Given the description of an element on the screen output the (x, y) to click on. 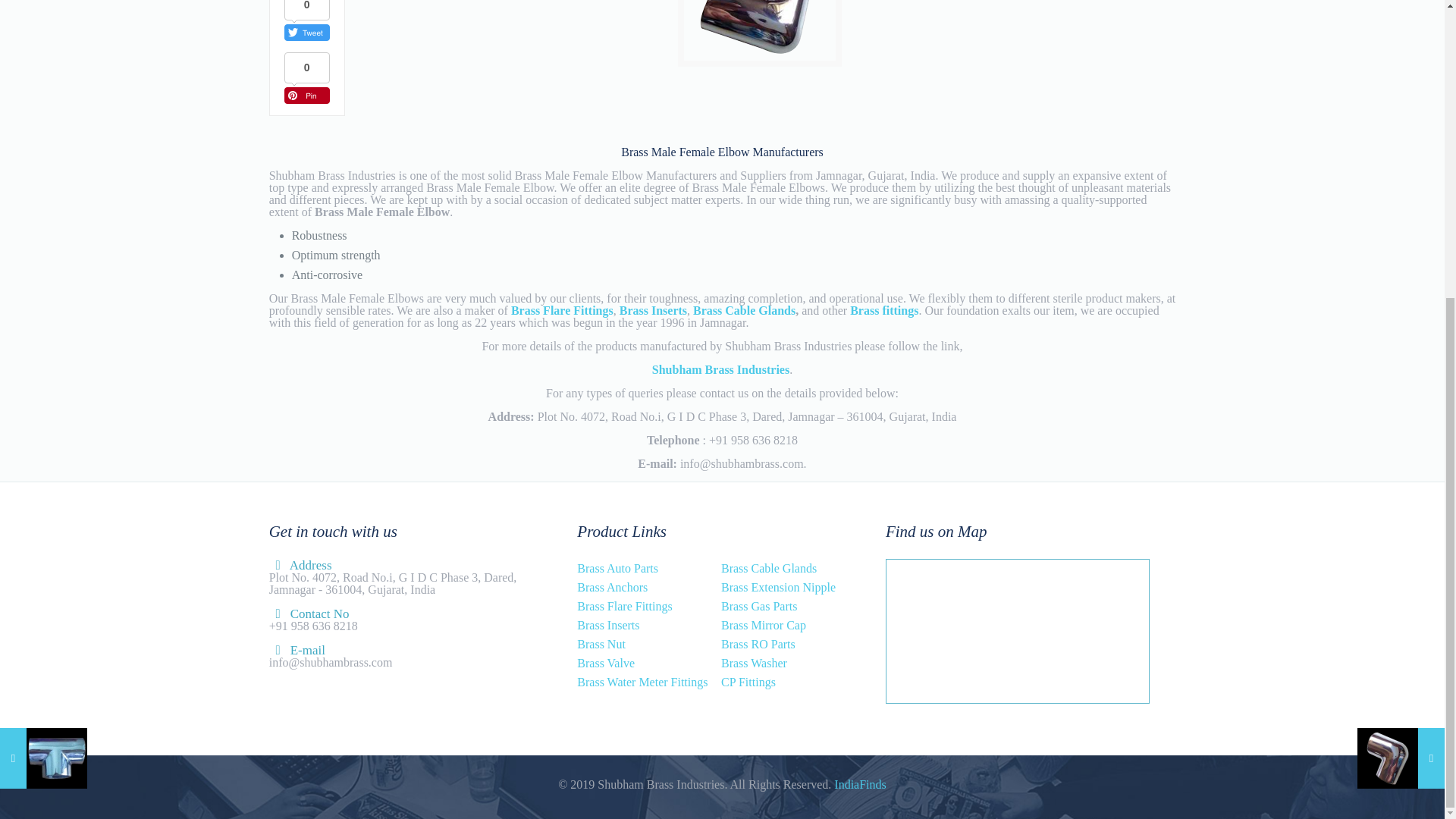
Brass Cable Glands (743, 309)
Brass Inserts (653, 309)
Brass Cable Glands (768, 567)
Brass fittings (884, 309)
Brass Auto Parts (617, 567)
Brass Flare Fittings (561, 309)
Shubham Brass Industries (720, 369)
Brass Anchors (611, 586)
